Given the description of an element on the screen output the (x, y) to click on. 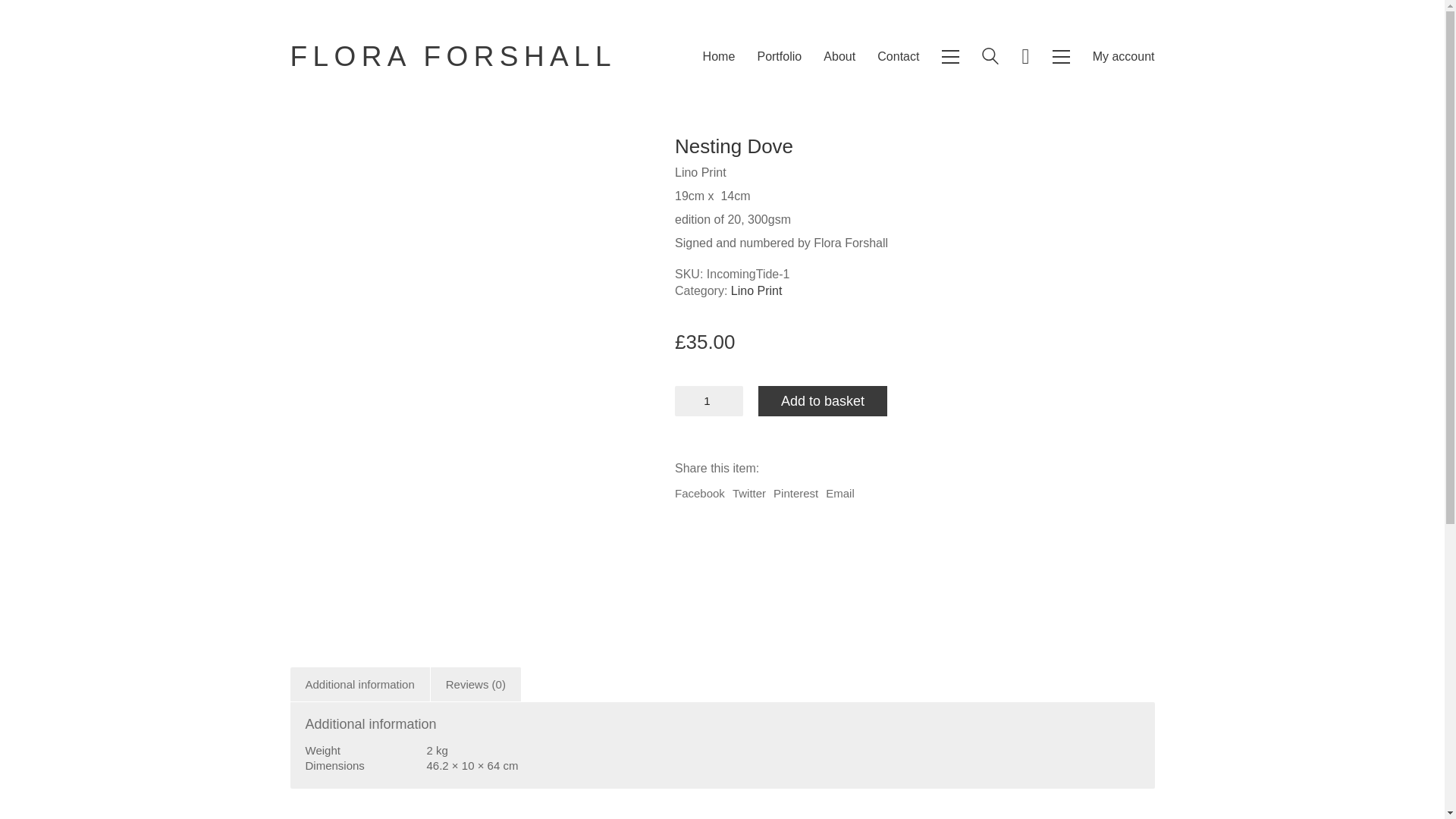
My account (1123, 56)
Lino Print (756, 290)
Contact (897, 56)
Qty (708, 400)
Facebook (700, 493)
Home (719, 56)
Pinterest (795, 493)
FLORA FORSHALL (452, 56)
Additional information (359, 684)
1 (708, 400)
